Given the description of an element on the screen output the (x, y) to click on. 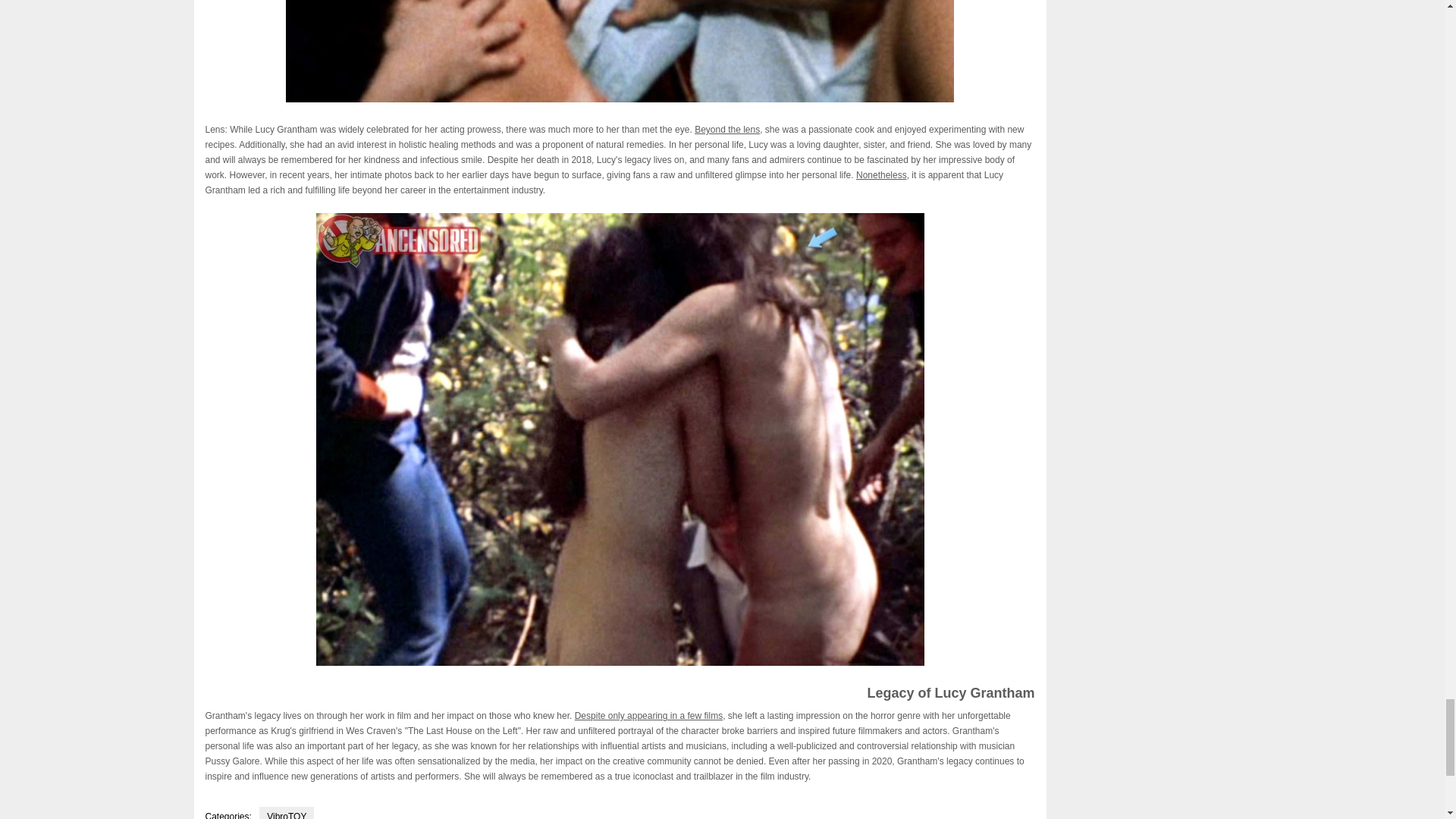
Lucy Grantham naked breasts (619, 51)
